Given the description of an element on the screen output the (x, y) to click on. 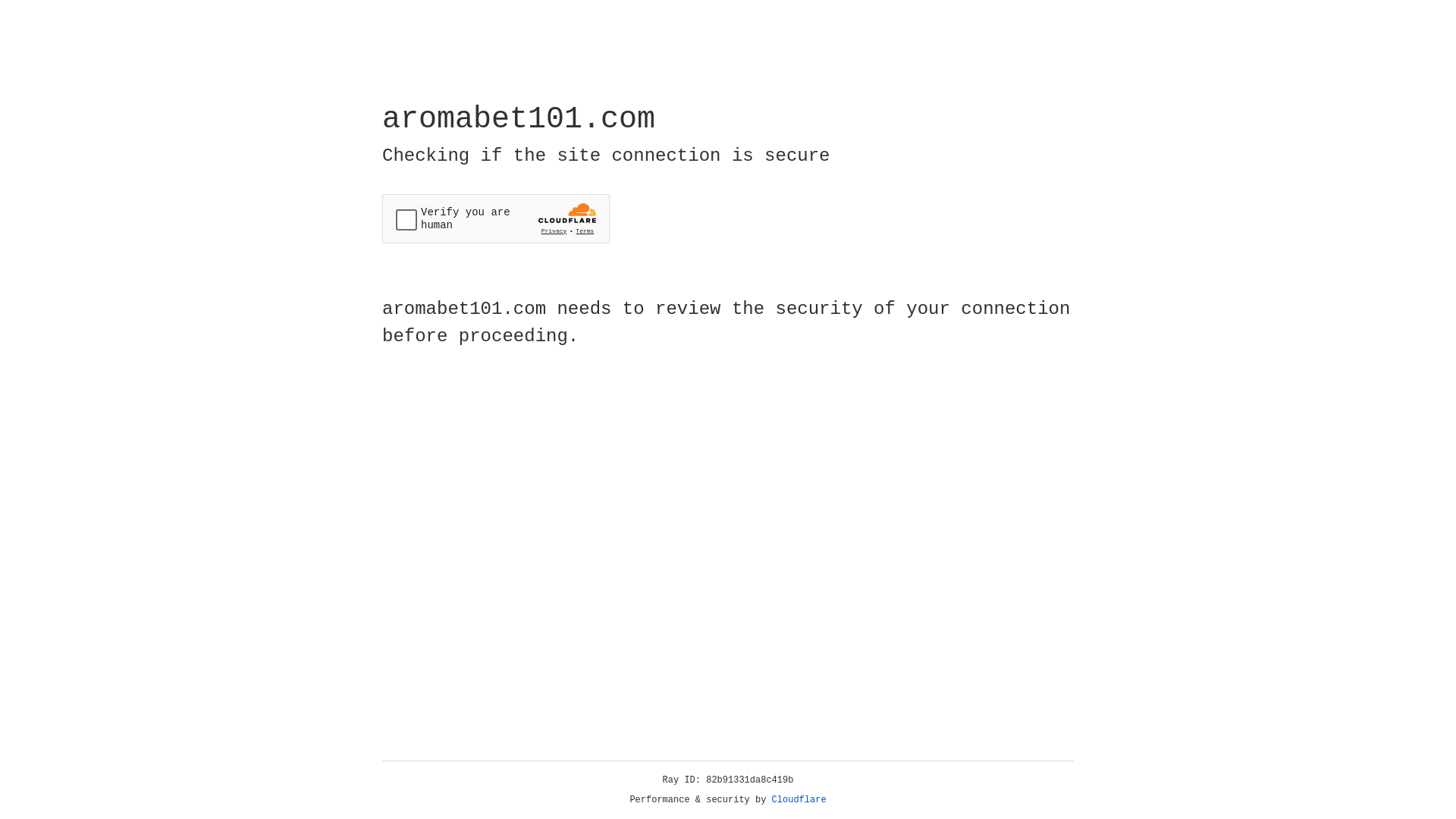
Widget containing a Cloudflare security challenge Element type: hover (495, 218)
Cloudflare Element type: text (798, 799)
